Given the description of an element on the screen output the (x, y) to click on. 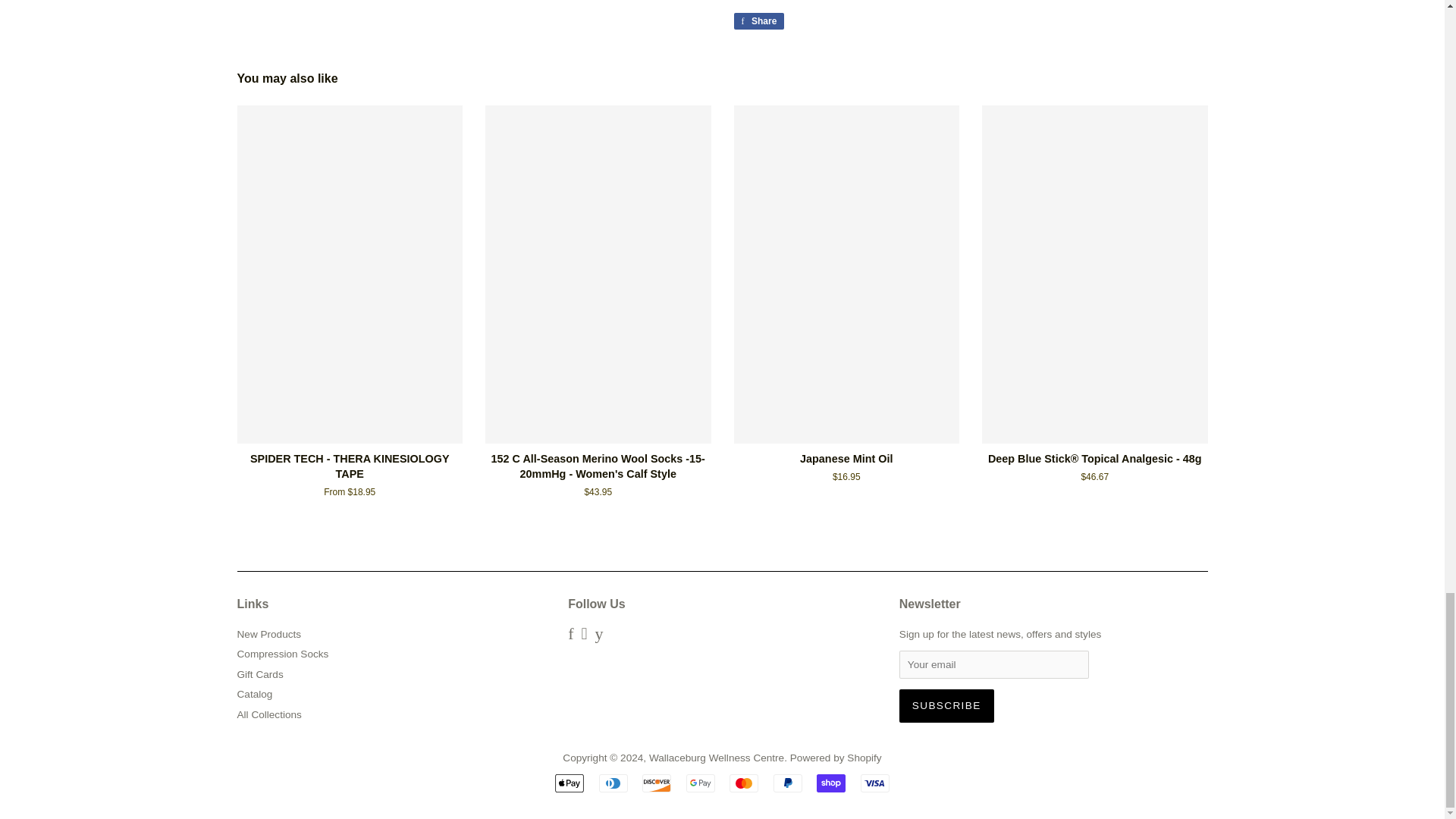
Catalog (253, 694)
Discover (656, 782)
Apple Pay (568, 782)
Share on Facebook (758, 21)
Compression Socks (282, 654)
Shop Pay (830, 782)
Google Pay (758, 21)
Mastercard (699, 782)
Diners Club (743, 782)
